Given the description of an element on the screen output the (x, y) to click on. 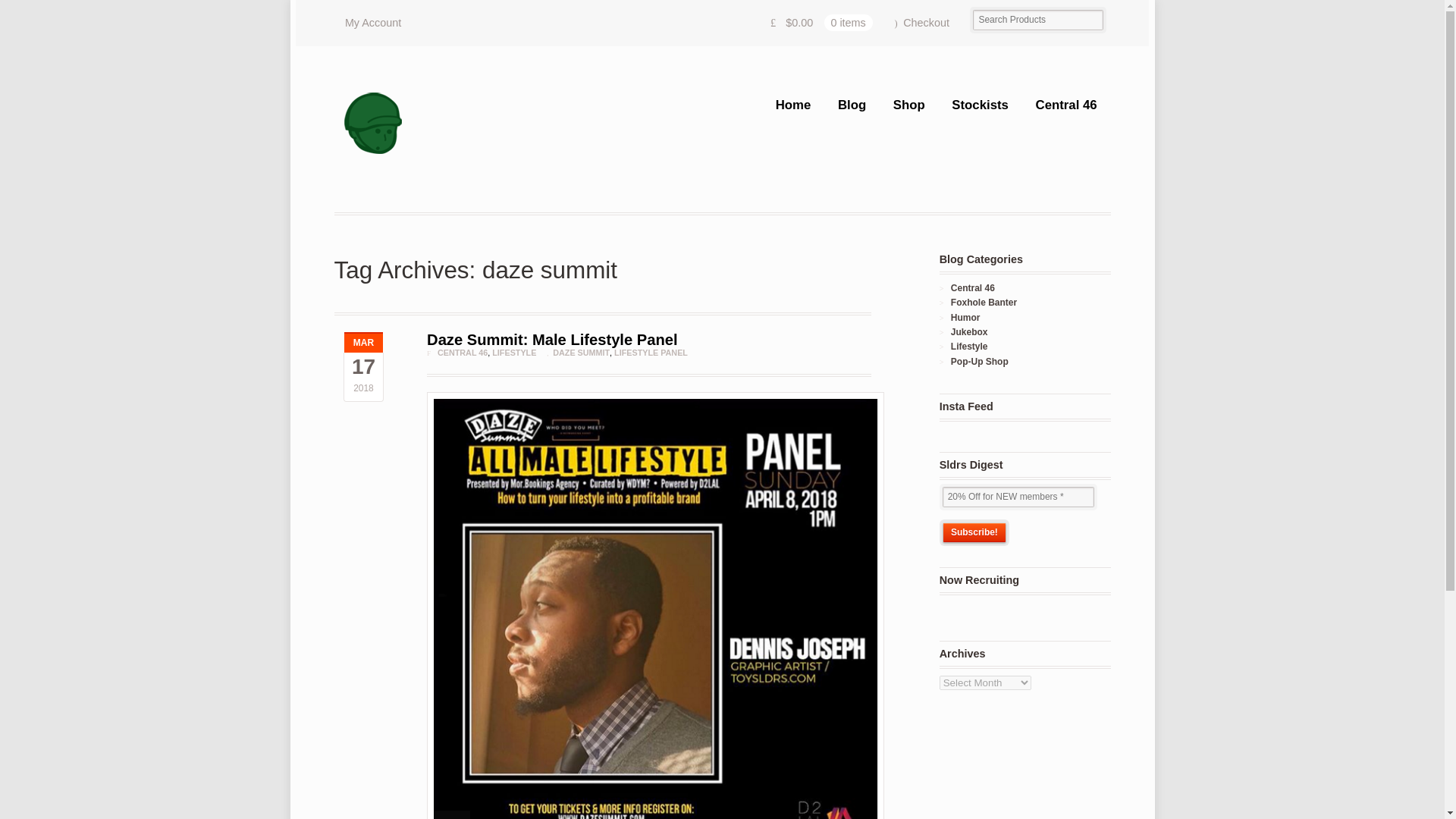
Home (792, 104)
CENTRAL 46 (462, 352)
My Account (372, 22)
LIFESTYLE (513, 352)
LIFESTYLE PANEL (650, 352)
Daze Summit: Male Lifestyle Panel (551, 339)
Daze Summit: Male Lifestyle Panel (551, 339)
DAZE SUMMIT (581, 352)
Search (74, 10)
